Given the description of an element on the screen output the (x, y) to click on. 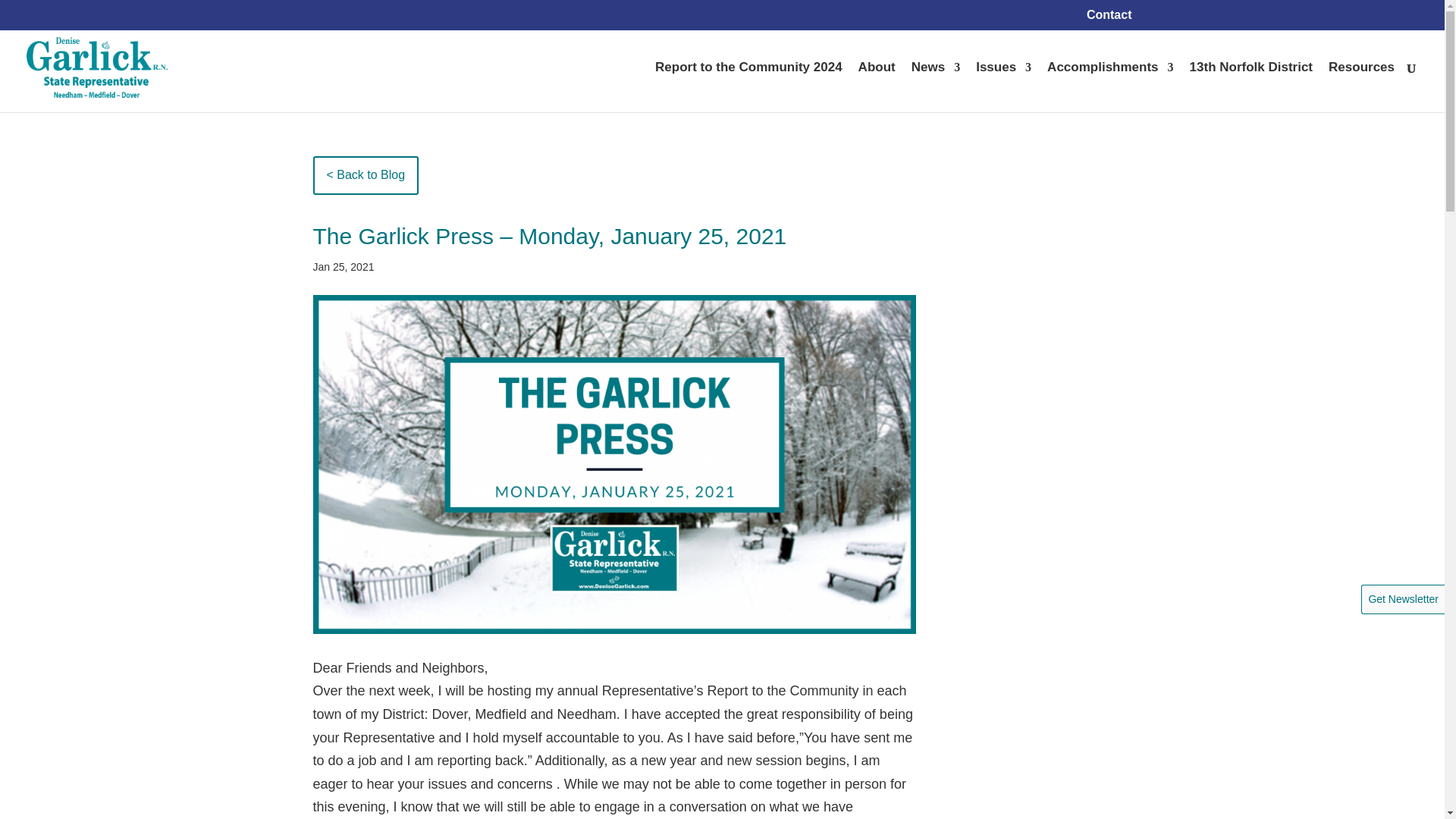
Resources (1360, 87)
Report to the Community 2024 (749, 87)
Issues (1002, 87)
13th Norfolk District (1251, 87)
Accomplishments (1109, 87)
Contact (1109, 19)
News (935, 87)
